Given the description of an element on the screen output the (x, y) to click on. 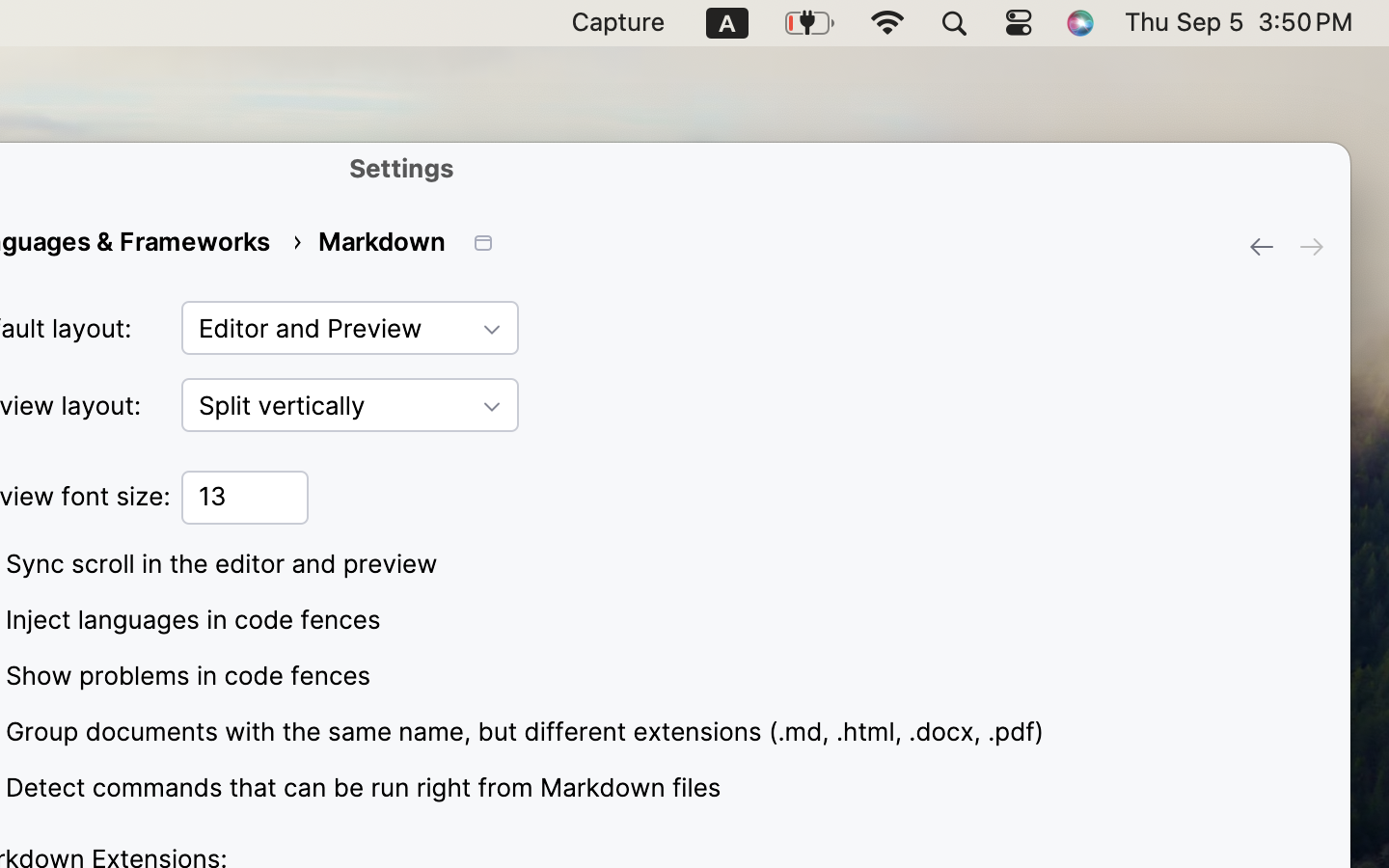
Settings Element type: AXStaticText (402, 167)
Split vertically Element type: AXPopUpButton (349, 404)
Editor and Preview Element type: AXPopUpButton (349, 327)
13 Element type: AXTextField (244, 497)
